Given the description of an element on the screen output the (x, y) to click on. 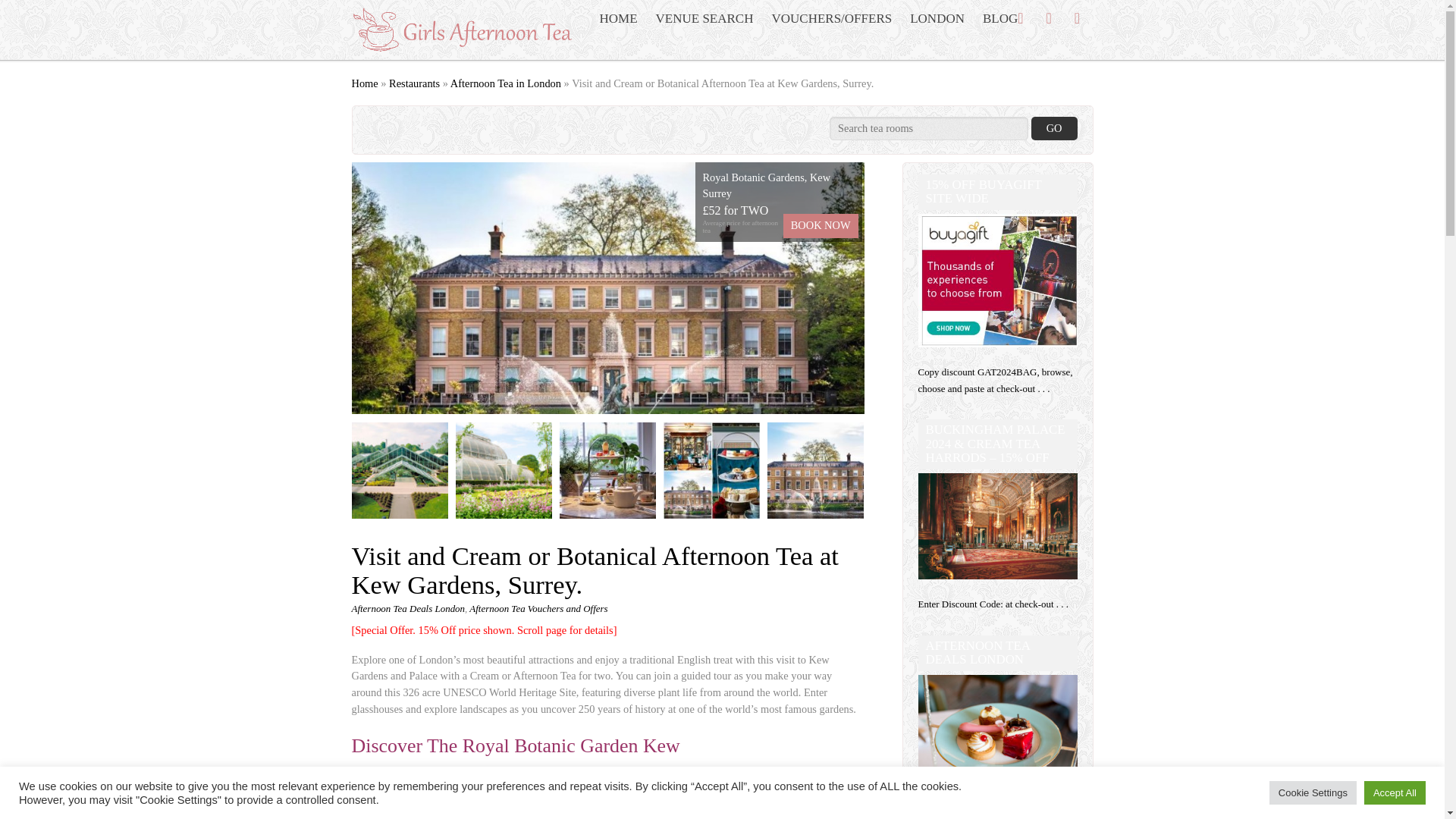
Girls Afternoon Tea (465, 46)
Restaurants (413, 82)
Afternoon Tea in London (504, 82)
VENUE SEARCH (704, 18)
GO (1053, 128)
Home (365, 82)
Pinterest (1076, 16)
Afternoon Tea Vouchers and Offers (537, 608)
BOOK NOW (821, 225)
Twitter (1020, 16)
HOME (617, 18)
Enter Discount Code: at check-out . . . (992, 603)
Girls Afternoon Tea (465, 29)
Facebook (1048, 16)
